Given the description of an element on the screen output the (x, y) to click on. 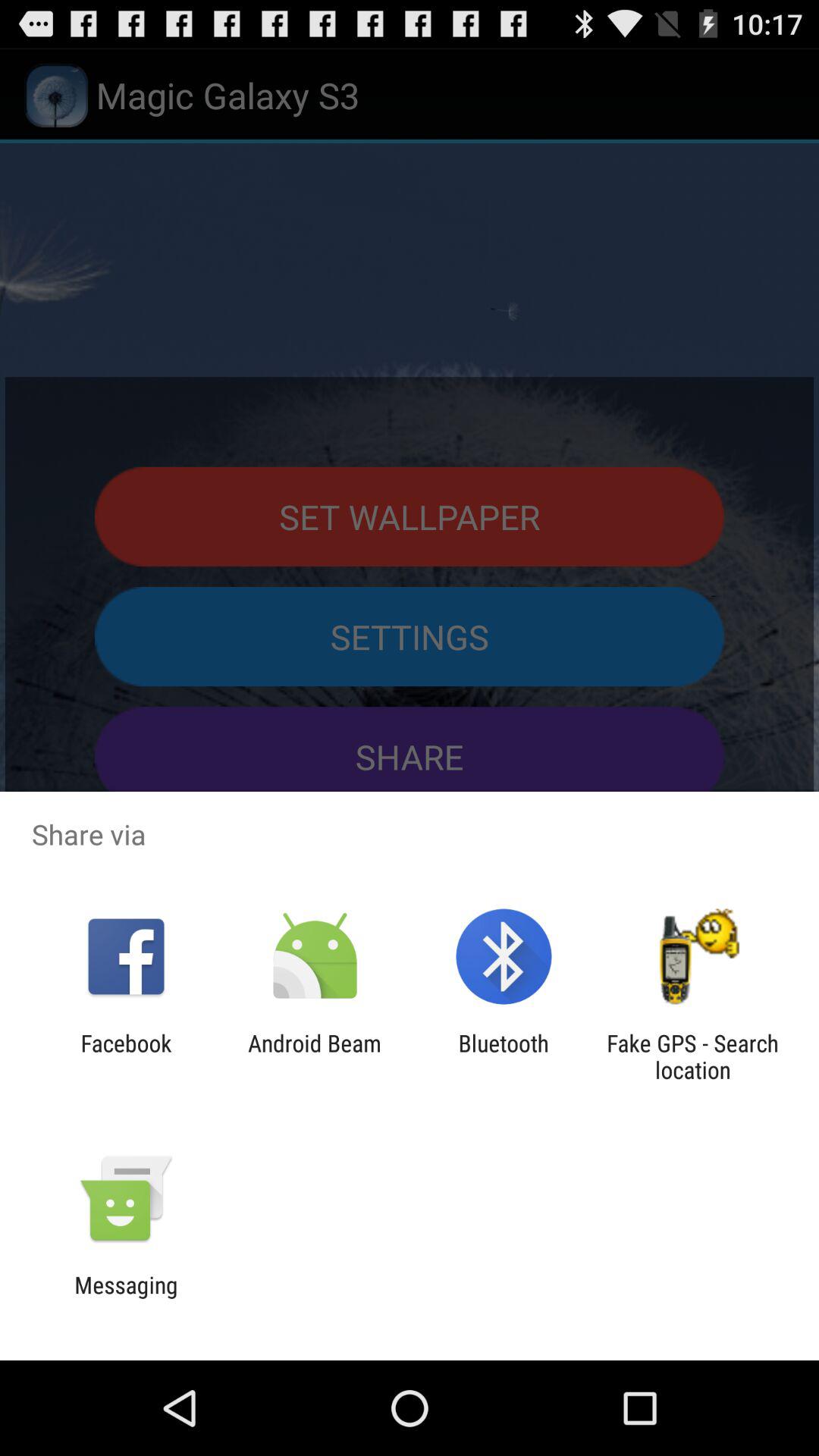
tap icon next to the fake gps search item (503, 1056)
